Given the description of an element on the screen output the (x, y) to click on. 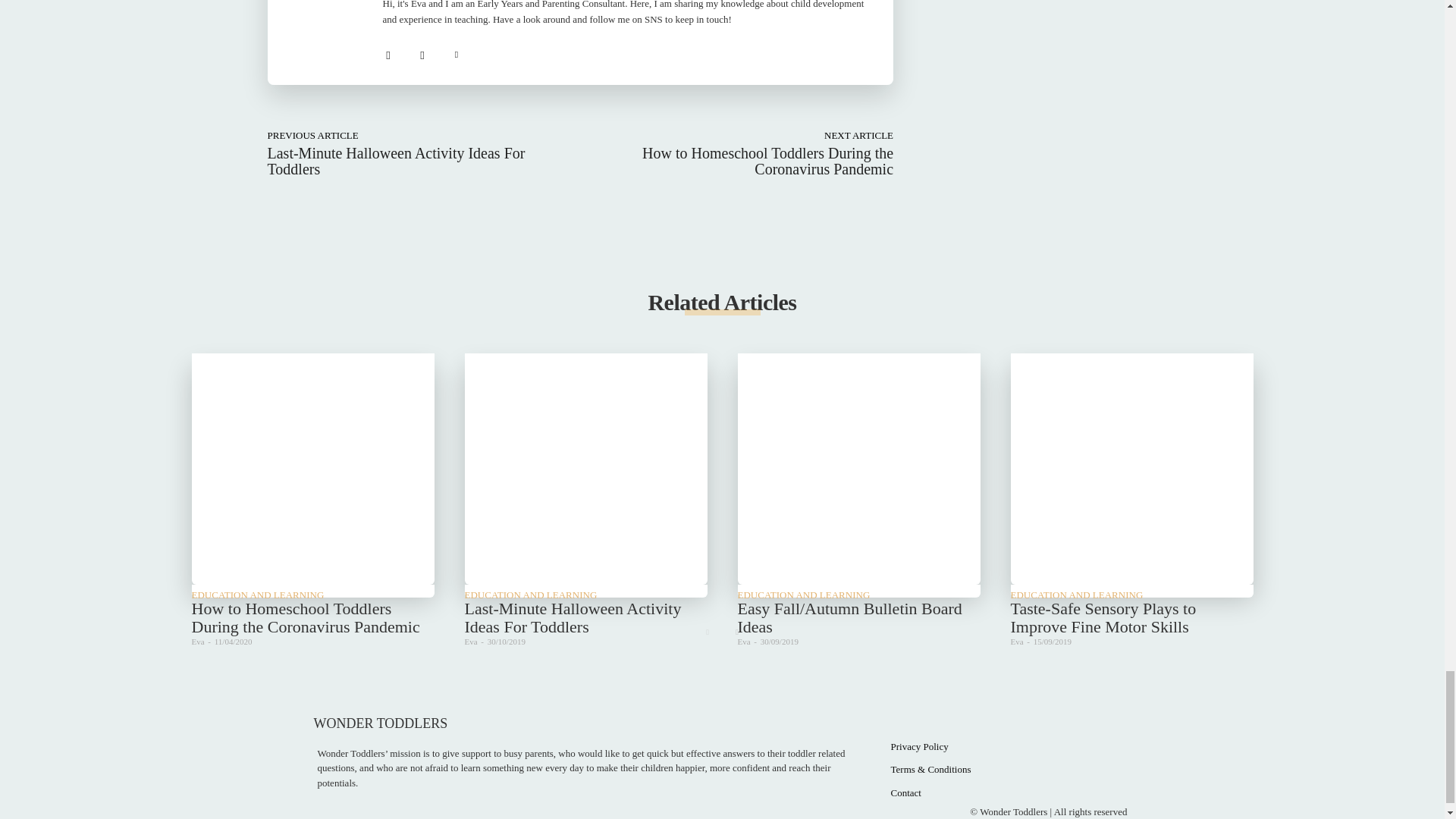
twitter (455, 51)
facebook (387, 51)
instagram (422, 51)
